Given the description of an element on the screen output the (x, y) to click on. 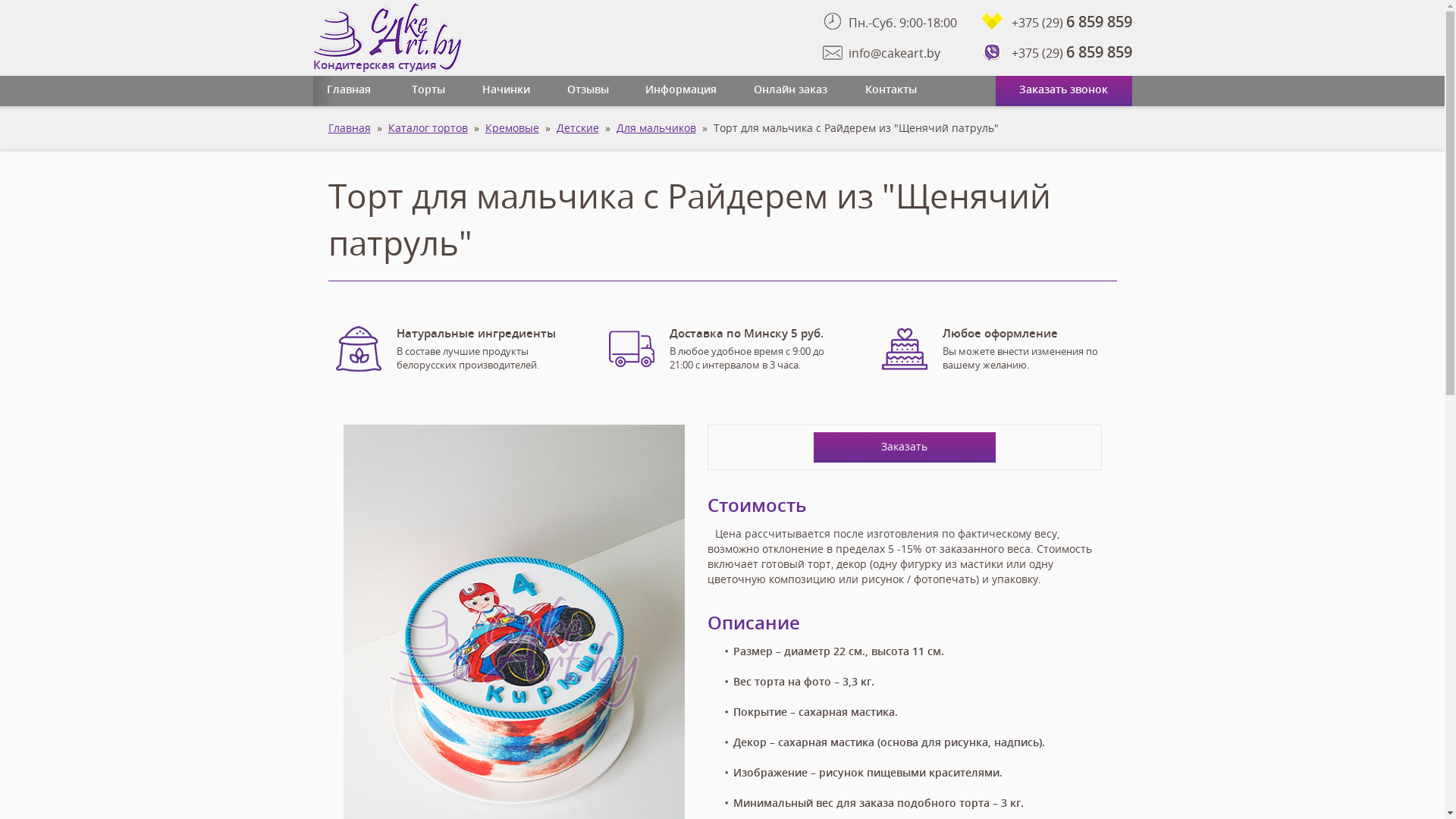
info@cakeart.by Element type: text (893, 52)
